Given the description of an element on the screen output the (x, y) to click on. 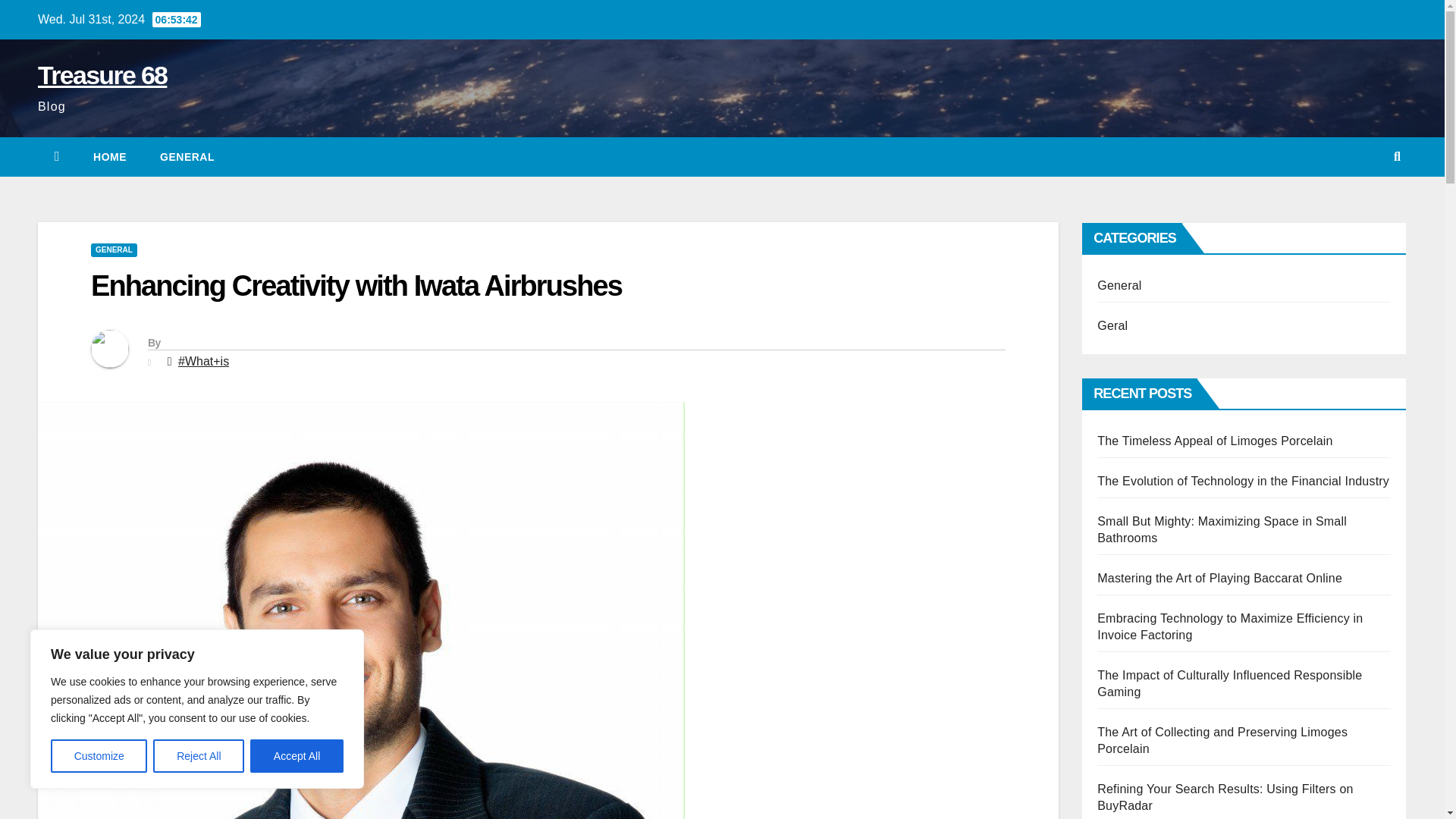
Permalink to: Enhancing Creativity with Iwata Airbrushes (355, 286)
Treasure 68 (102, 74)
Enhancing Creativity with Iwata Airbrushes (355, 286)
Accept All (296, 756)
Customize (98, 756)
GENERAL (113, 250)
HOME (109, 156)
General (186, 156)
GENERAL (186, 156)
Home (109, 156)
